Given the description of an element on the screen output the (x, y) to click on. 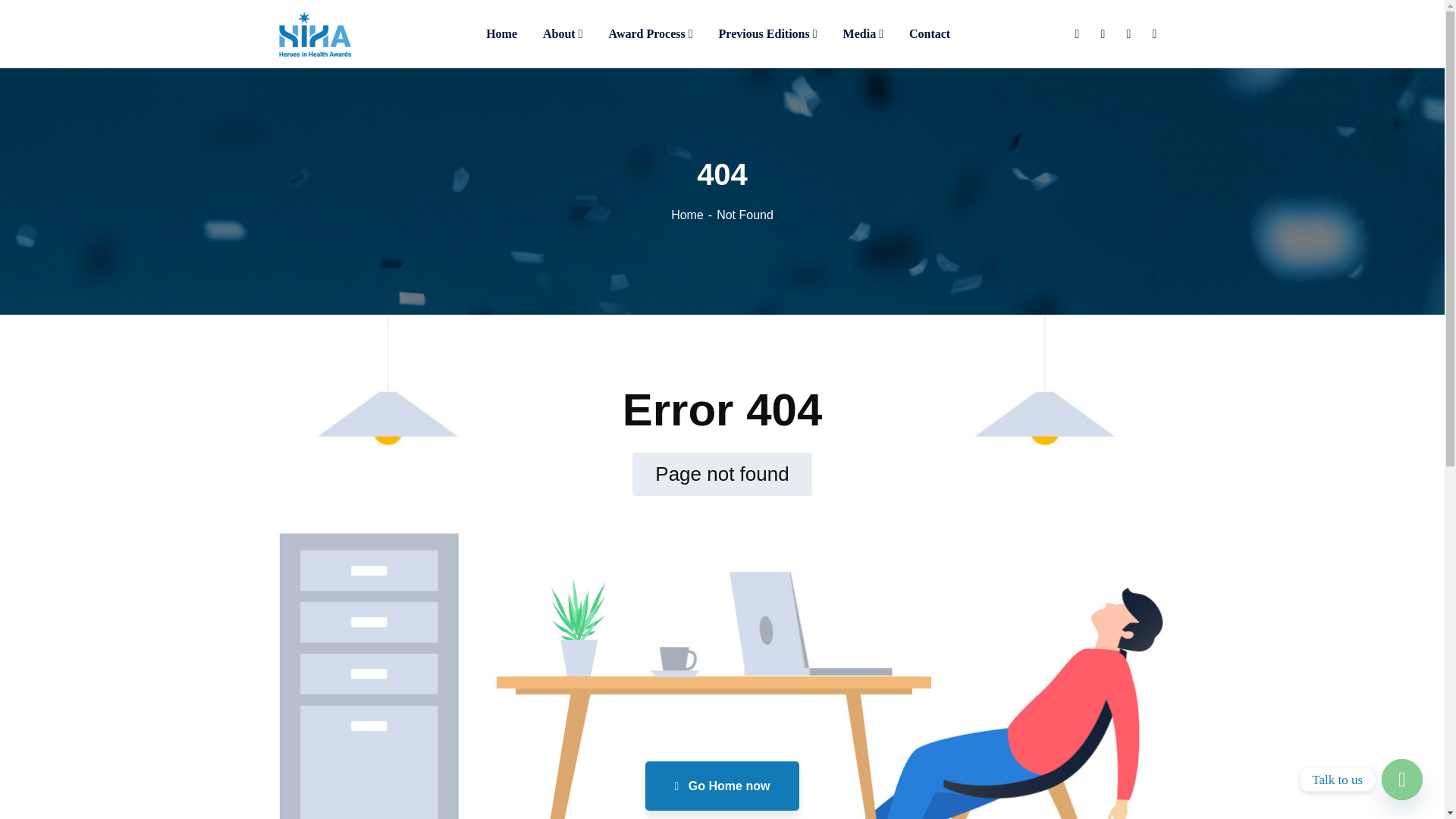
HIHA (314, 32)
Home (883, 529)
Award Process (650, 34)
Home (693, 214)
Previous Editions (767, 34)
Go Home now (722, 785)
